Given the description of an element on the screen output the (x, y) to click on. 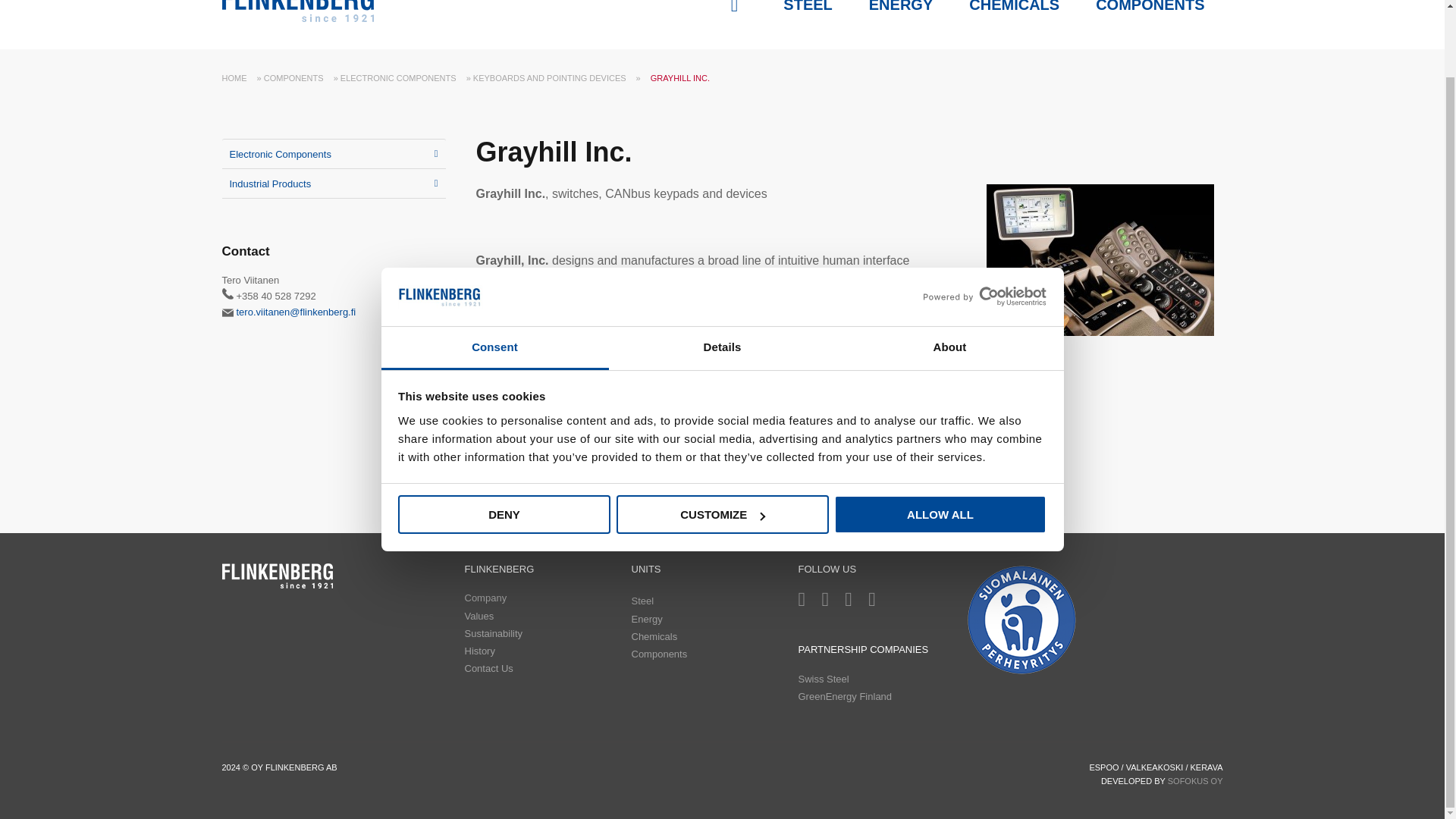
Details (721, 273)
DENY (503, 439)
Consent (494, 273)
ArmMounted (1100, 259)
About (948, 273)
CUSTOMIZE (721, 439)
ALLOW ALL (940, 439)
